Given the description of an element on the screen output the (x, y) to click on. 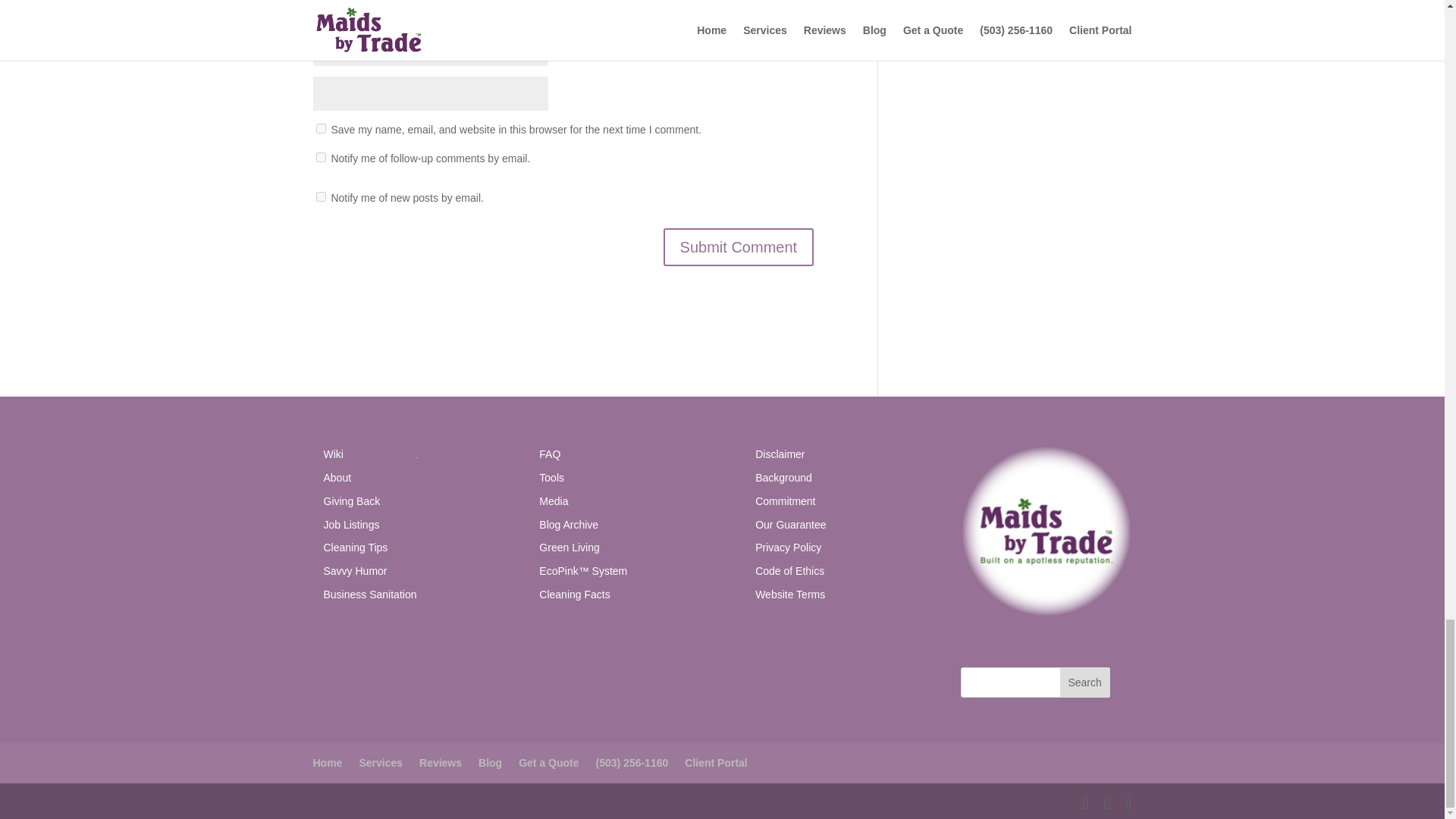
subscribe (319, 196)
Submit Comment (738, 247)
Wiki (332, 453)
Giving Back (351, 500)
yes (319, 128)
Search (1084, 682)
Job Listings (350, 524)
Submit Comment (738, 247)
About (336, 477)
subscribe (319, 157)
